Given the description of an element on the screen output the (x, y) to click on. 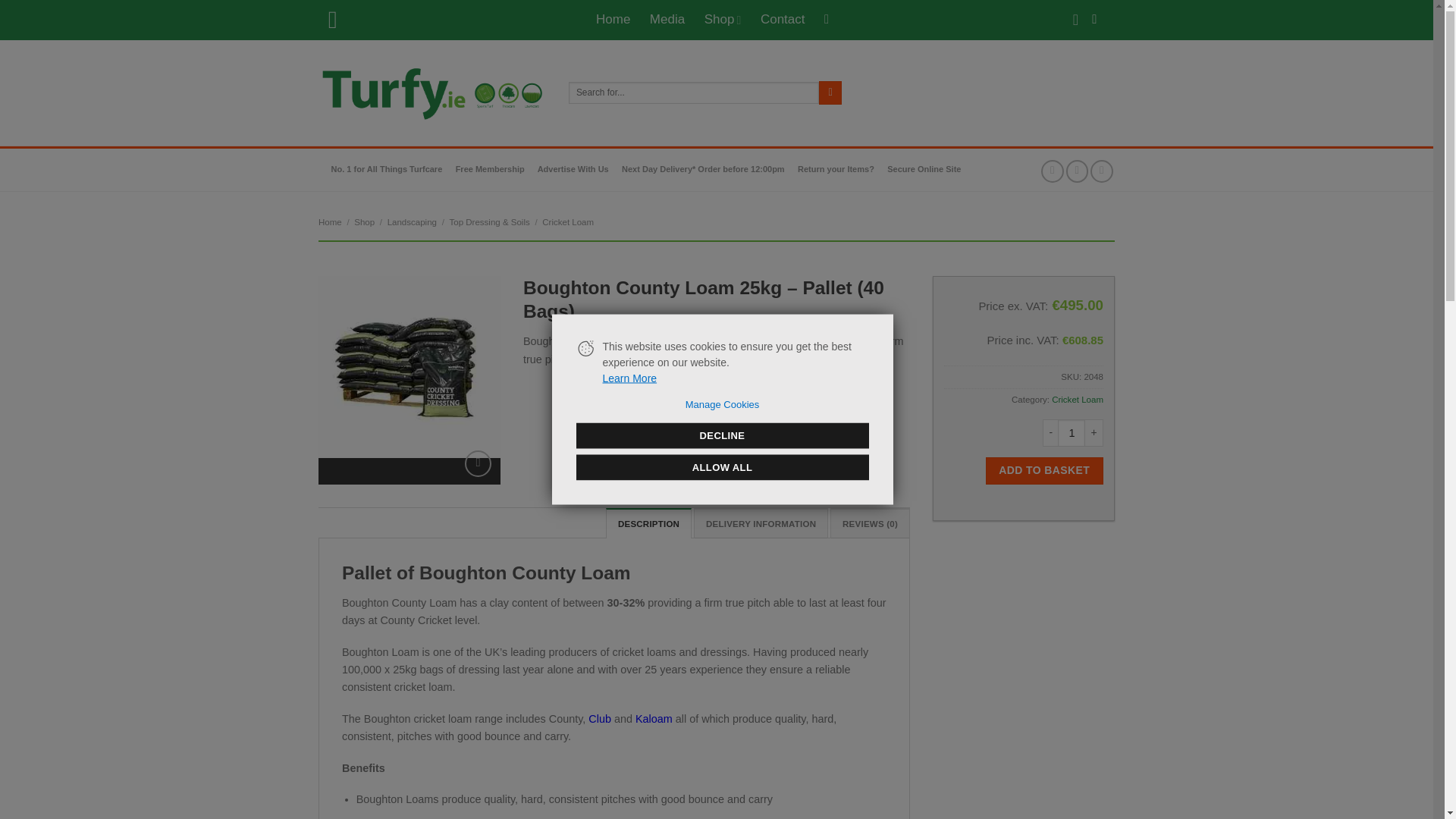
Share on Twitter (1077, 169)
Basket (830, 19)
Email to a Friend (1101, 169)
Share on Facebook (1052, 169)
Shop (722, 20)
Zoom (478, 463)
1 (1071, 432)
Home (613, 20)
Media (667, 20)
Login (1099, 19)
